Given the description of an element on the screen output the (x, y) to click on. 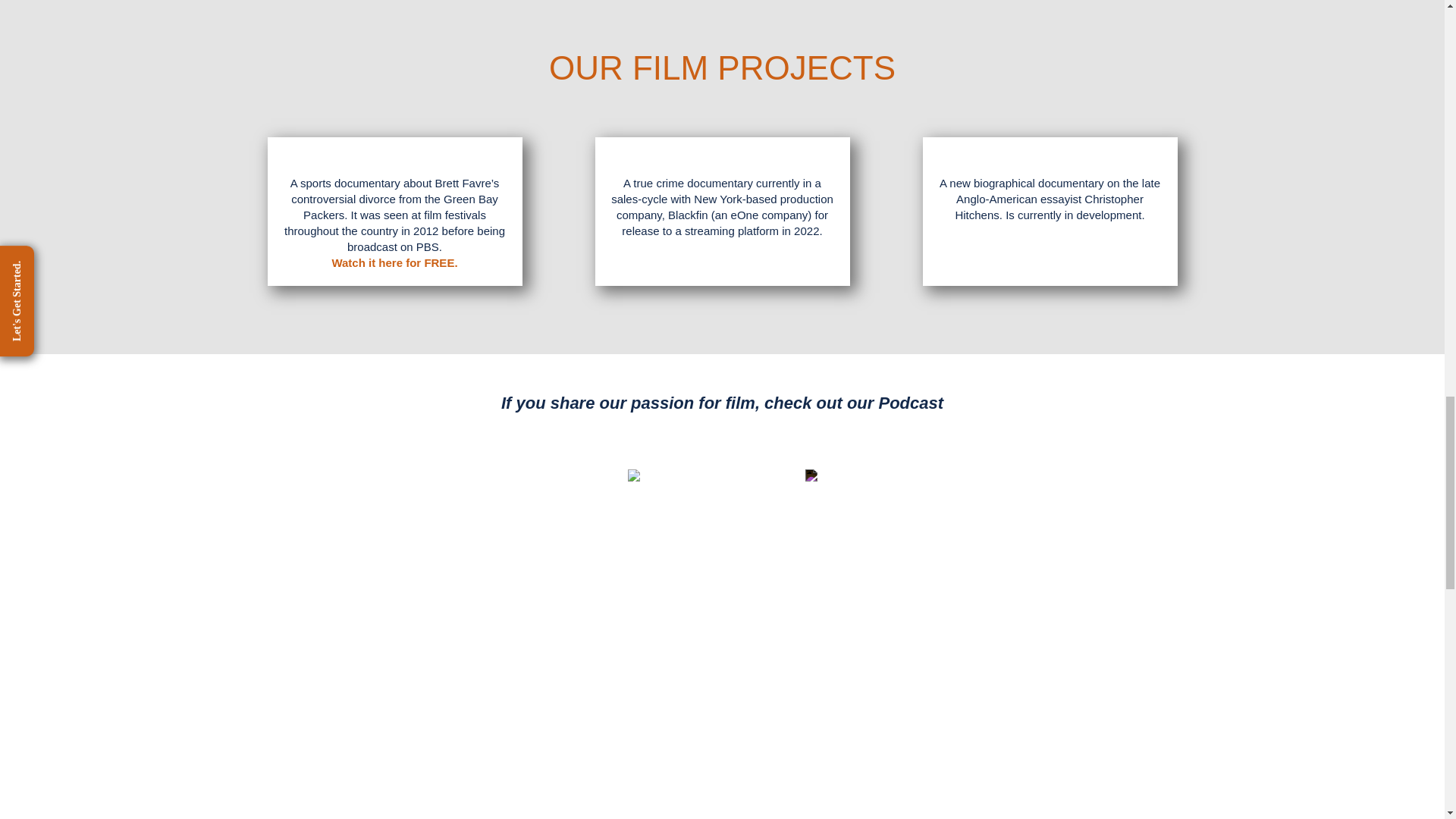
Watch it here for FREE. (394, 262)
